Given the description of an element on the screen output the (x, y) to click on. 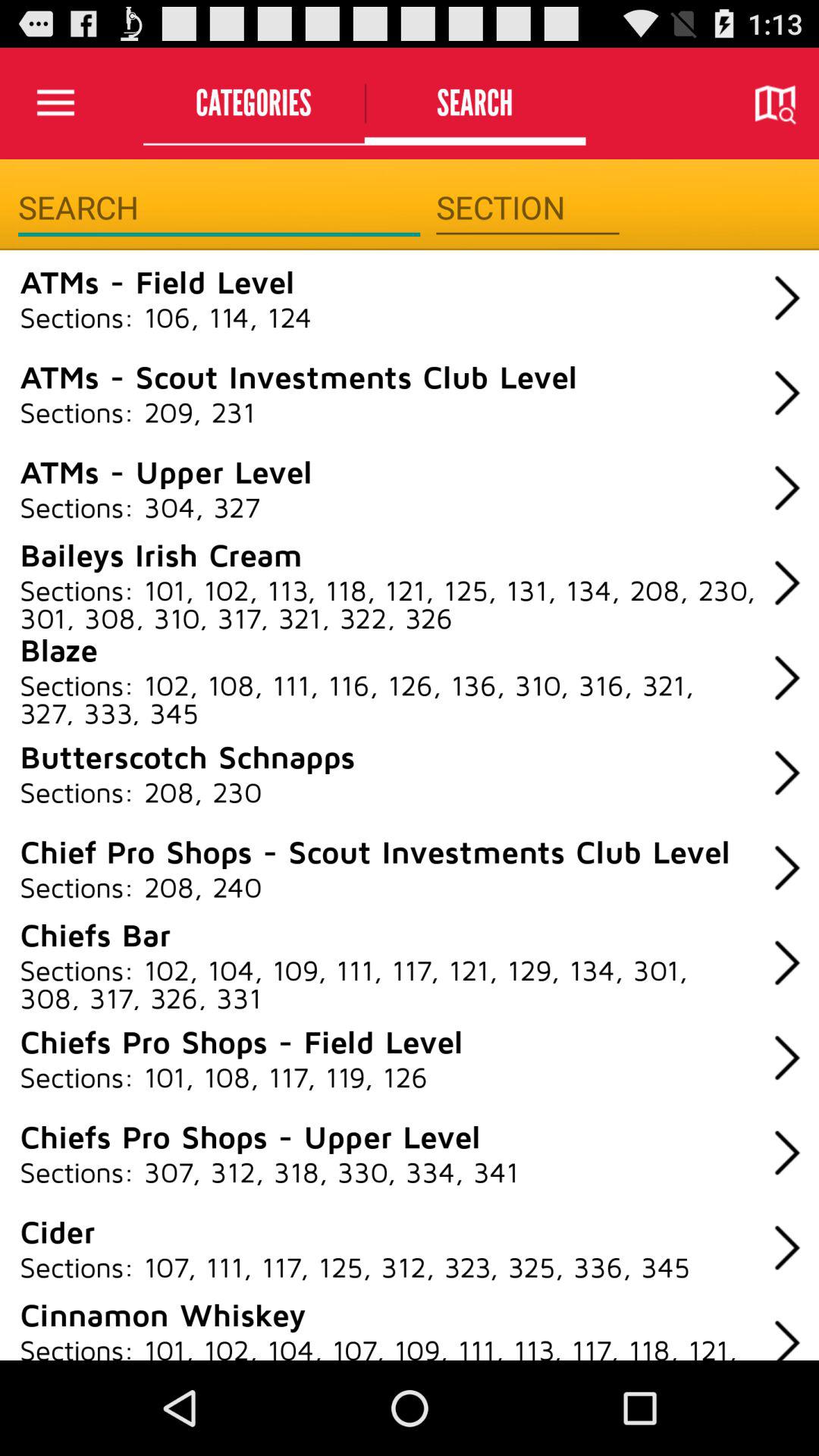
launch the icon below sections 102 108 (186, 756)
